Given the description of an element on the screen output the (x, y) to click on. 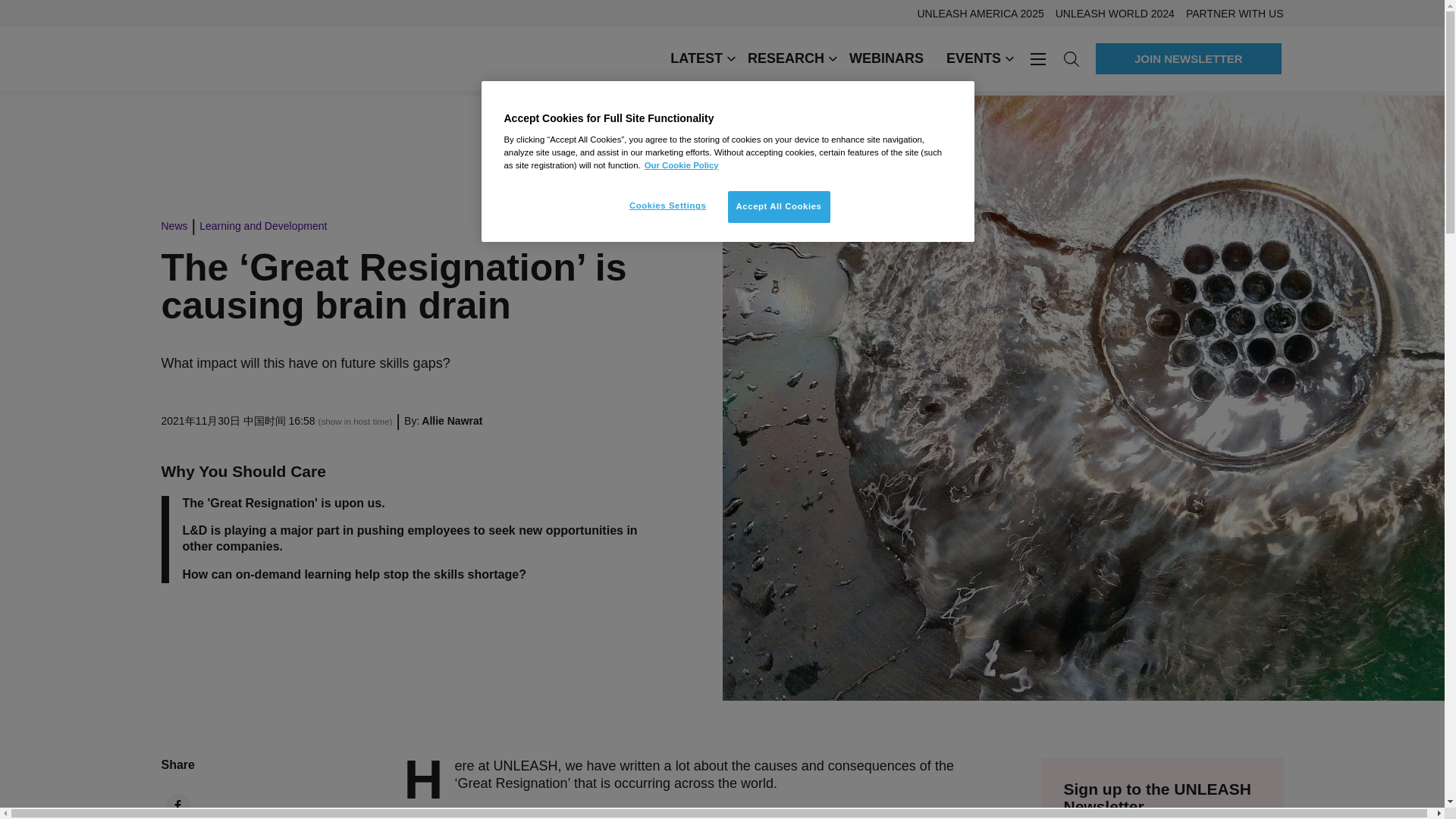
WEBINARS (886, 58)
UNLEASH WORLD 2024 (1108, 13)
UNLEASH AMERICA 2025 (974, 13)
PARTNER WITH US (1229, 13)
RESEARCH (787, 58)
JOIN NEWSLETTER (1188, 59)
LATEST (697, 58)
UNLEASH (402, 58)
EVENTS (974, 58)
